Given the description of an element on the screen output the (x, y) to click on. 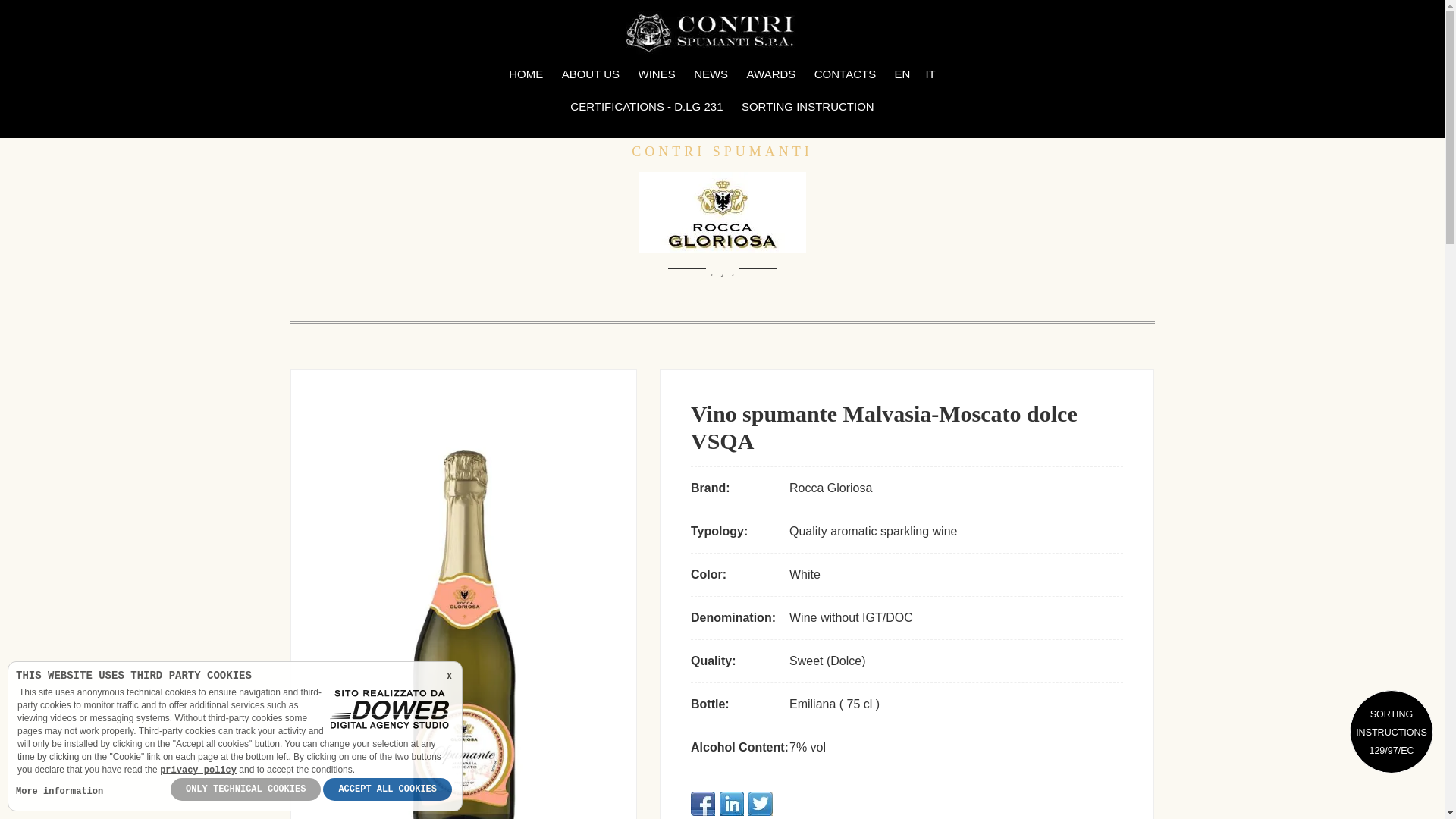
AWARDS (771, 74)
Awards (771, 74)
CONTACTS (844, 74)
WINES (656, 74)
Contacts (844, 74)
HOME (525, 74)
EN (902, 74)
home (722, 31)
ACCEPT ALL COOKIES (387, 789)
SORTING INSTRUCTION (807, 106)
Certifications - D.LG 231 (646, 106)
About us (590, 74)
CERTIFICATIONS - D.LG 231 (646, 106)
News (710, 74)
NEWS (710, 74)
